Given the description of an element on the screen output the (x, y) to click on. 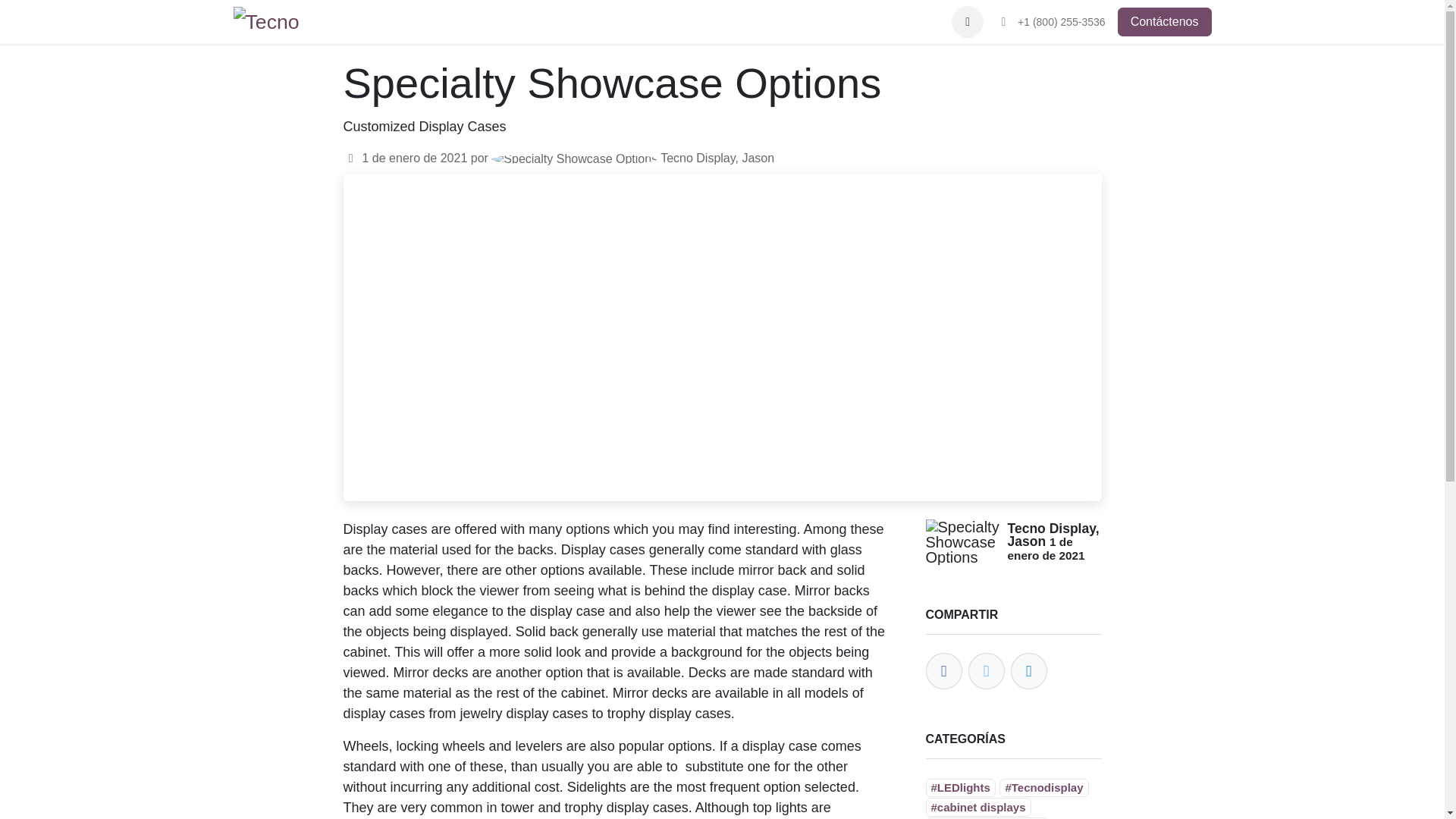
Tecno Display (268, 21)
Compartir en Linkedin (1028, 670)
Compartir en Twitter (986, 670)
Compartir en Facebook (942, 670)
